Given the description of an element on the screen output the (x, y) to click on. 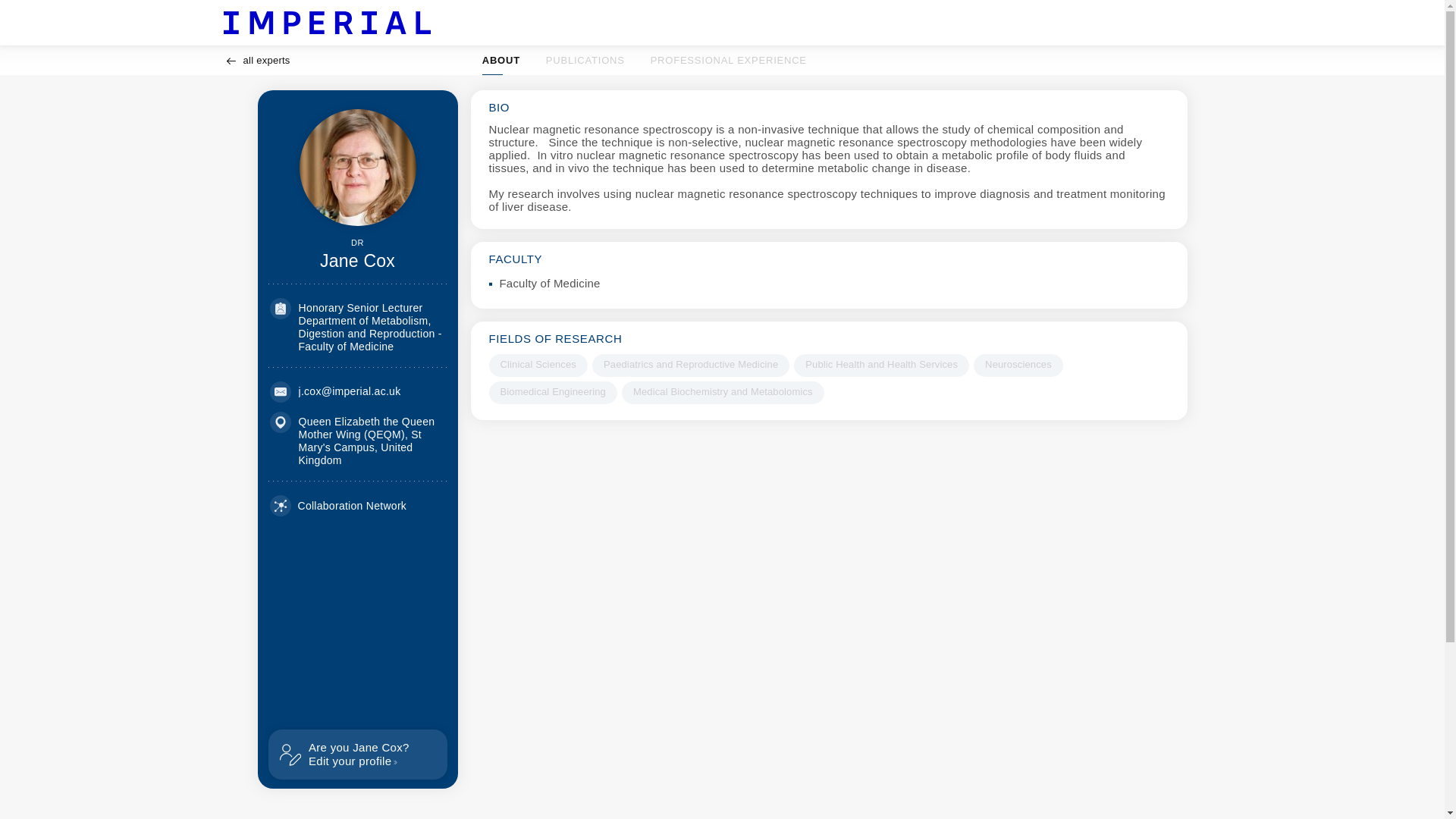
Clinical Sciences (536, 364)
PUBLICATIONS (585, 60)
ABOUT (500, 60)
all experts (255, 60)
Biomedical Engineering (551, 392)
Collaboration Network (338, 505)
Medical Biochemistry and Metabolomics (722, 392)
Neurosciences (644, 60)
